Given the description of an element on the screen output the (x, y) to click on. 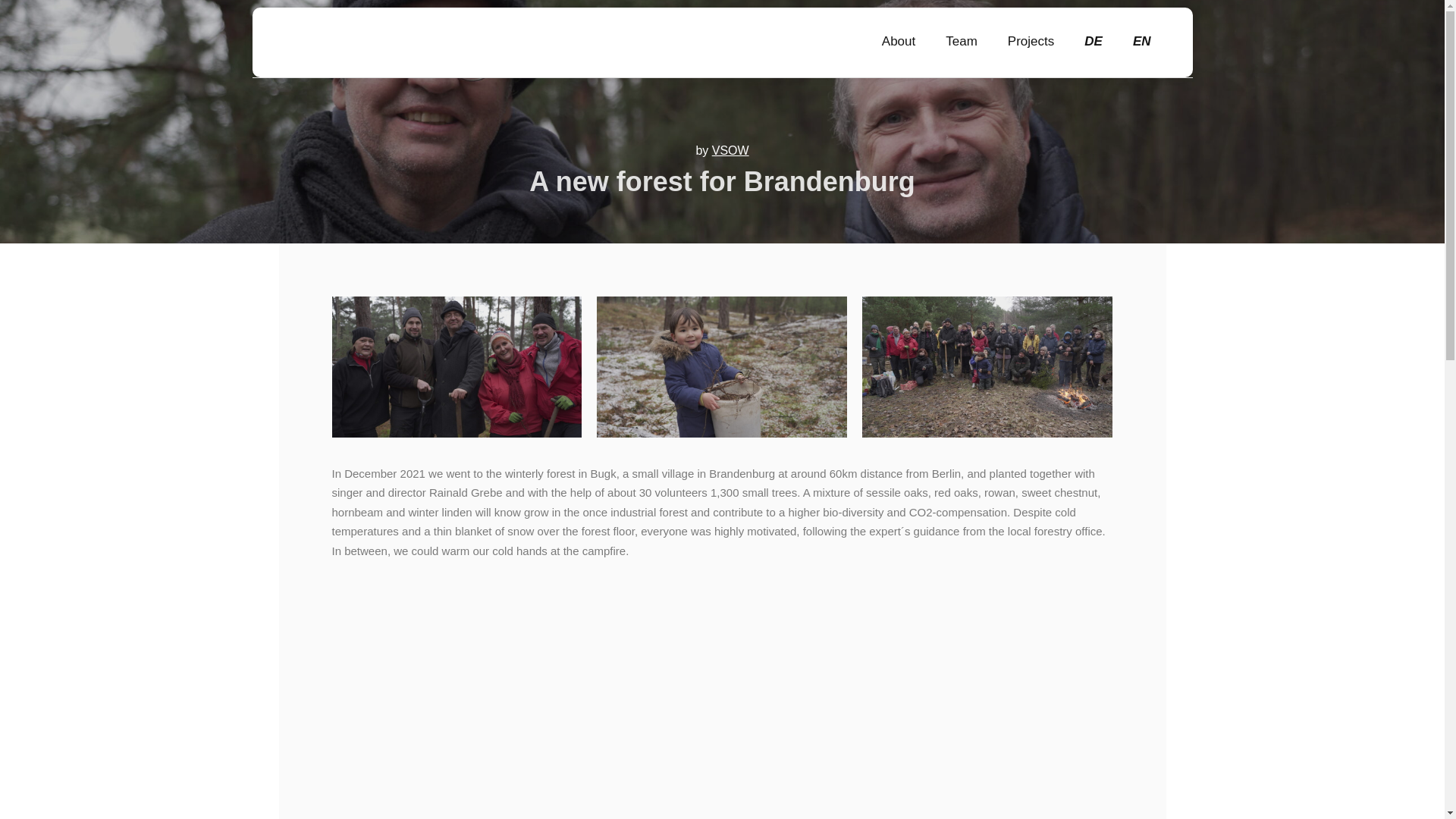
About (898, 41)
Projects (1030, 41)
Team (961, 41)
VSOW (317, 41)
